Given the description of an element on the screen output the (x, y) to click on. 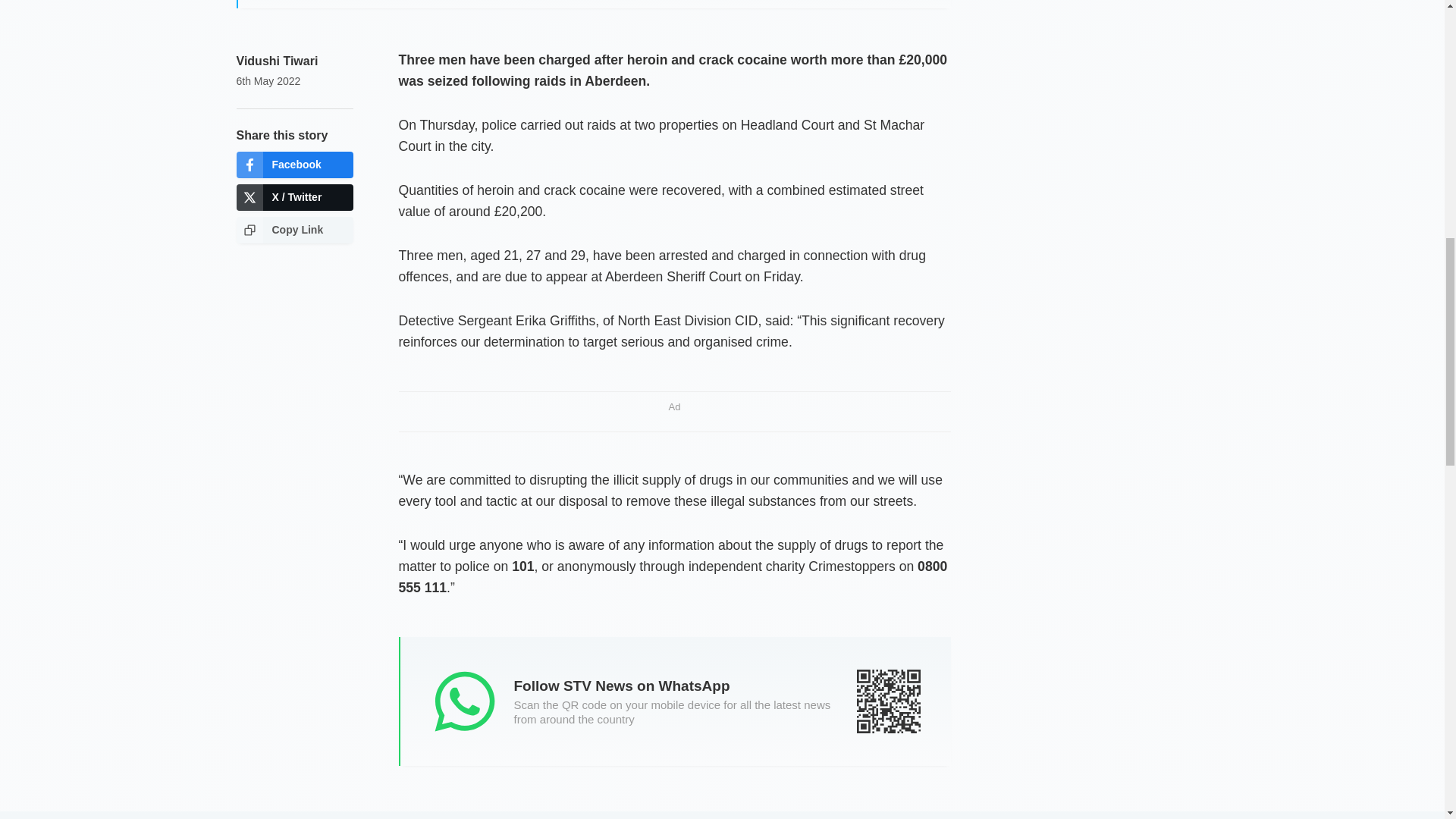
Vidushi Tiwari (276, 60)
